Given the description of an element on the screen output the (x, y) to click on. 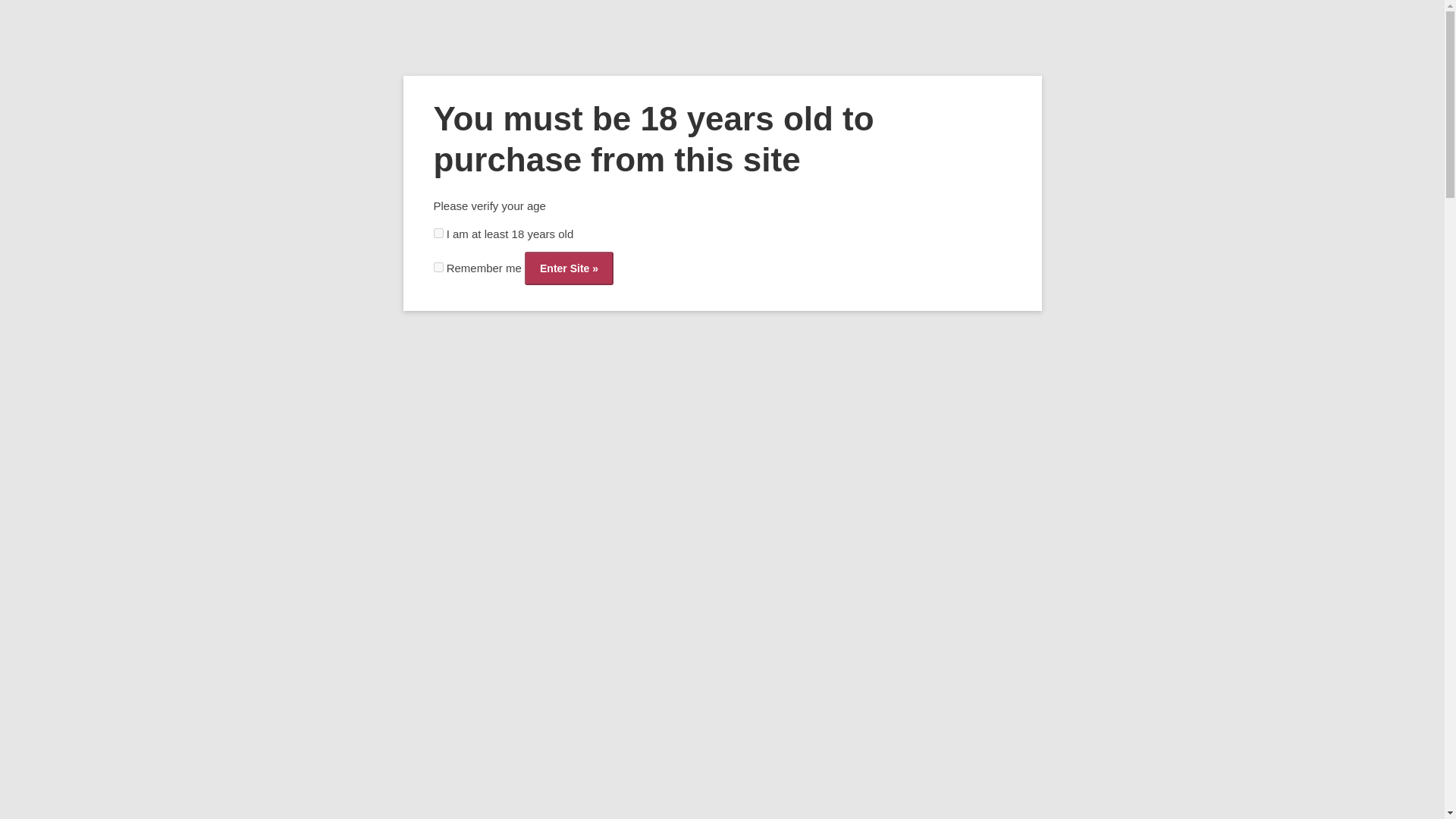
YouTube page opens in new window (1166, 76)
Home (609, 292)
Facebook page opens in new window (1121, 76)
Instagram page opens in new window (1144, 76)
1 (655, 803)
Buy Our Wines (411, 138)
 0 (1129, 11)
YouTube page opens in new window (1166, 76)
Instagram page opens in new window (1144, 76)
1 (438, 266)
Home (298, 138)
Facebook page opens in new window (1121, 76)
Barrua Agricola Punica (422, 550)
Agricola Punica (672, 292)
1 (438, 233)
